Given the description of an element on the screen output the (x, y) to click on. 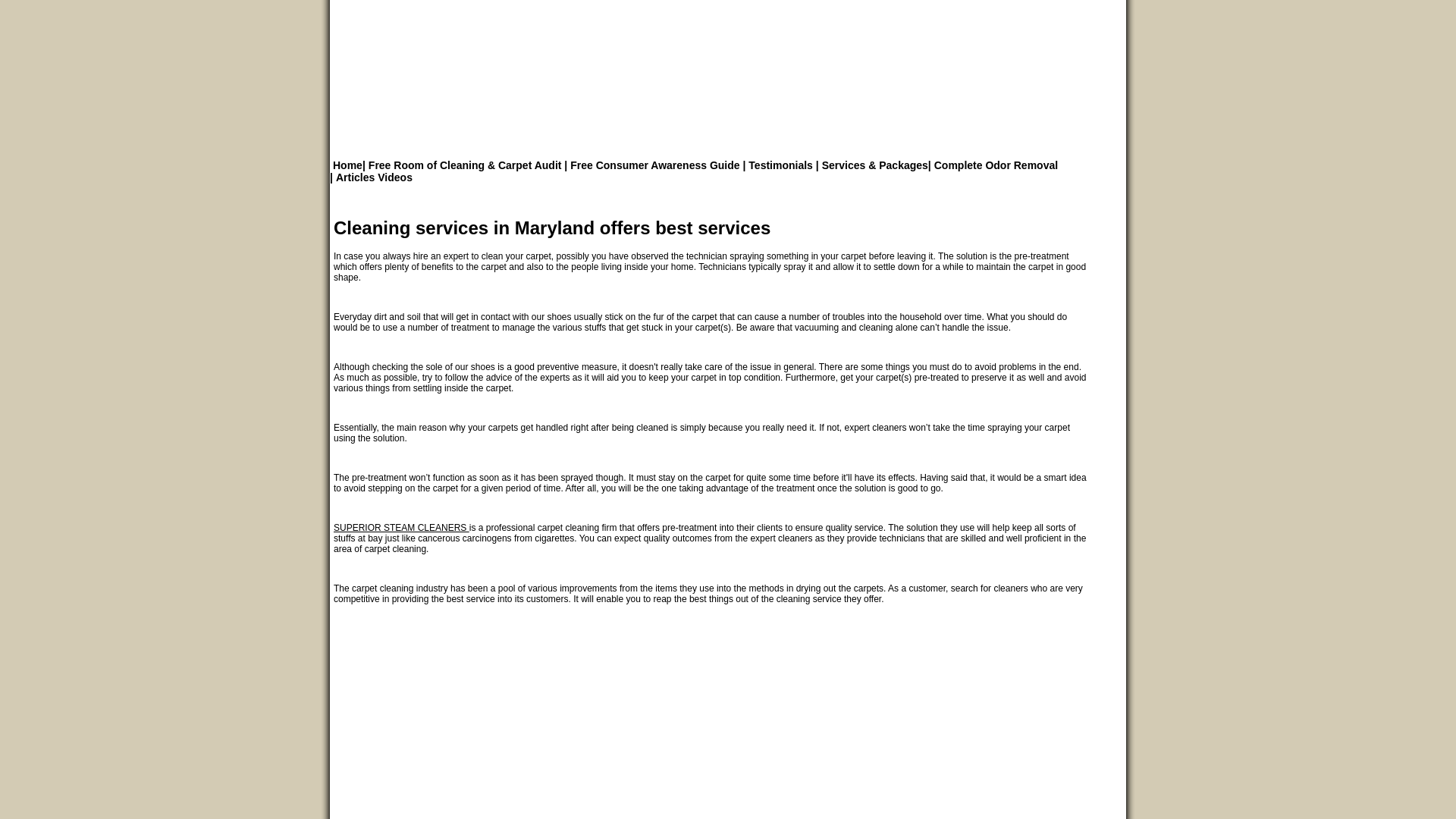
Videos (393, 177)
SUPERIOR STEAM CLEANERS (400, 527)
Articles (353, 177)
